Given the description of an element on the screen output the (x, y) to click on. 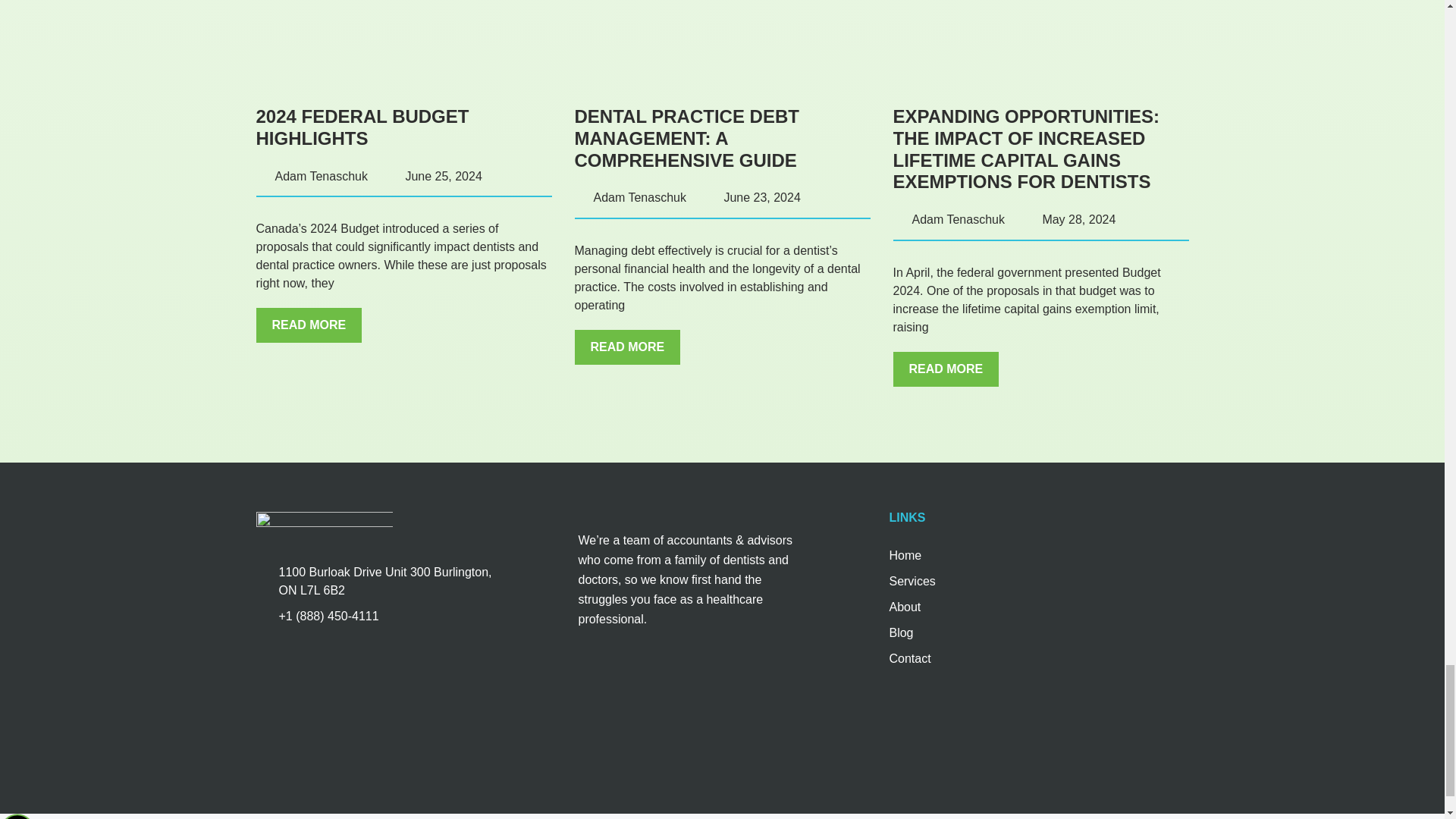
1100 Burloak Drive Unit 300 Burlington, ON L7L 6B2 (382, 697)
